Given the description of an element on the screen output the (x, y) to click on. 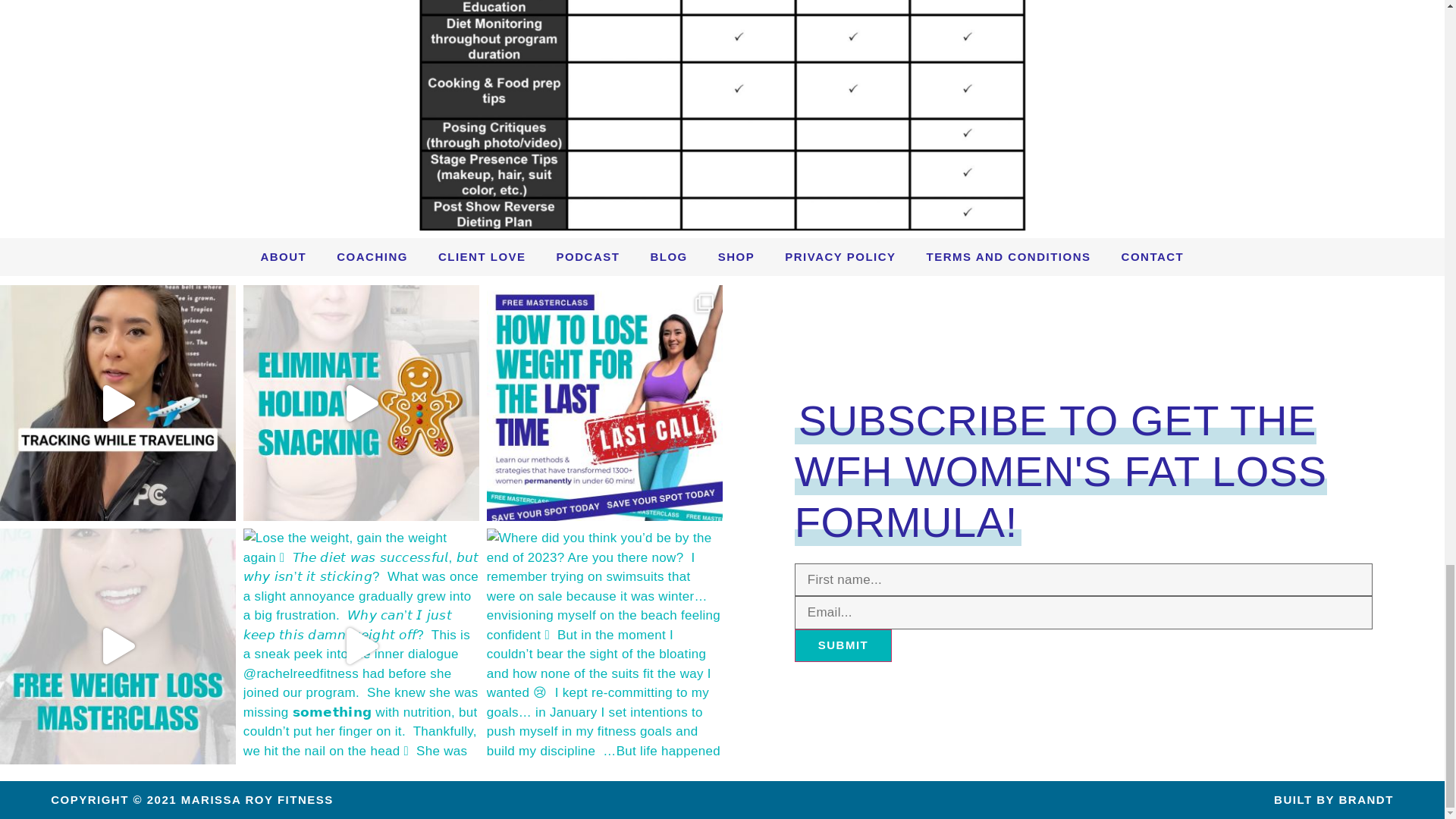
PODCAST (587, 256)
CLIENT LOVE (482, 256)
COACHING (372, 256)
SHOP (736, 256)
PRIVACY POLICY (840, 256)
BLOG (667, 256)
ABOUT (282, 256)
